Given the description of an element on the screen output the (x, y) to click on. 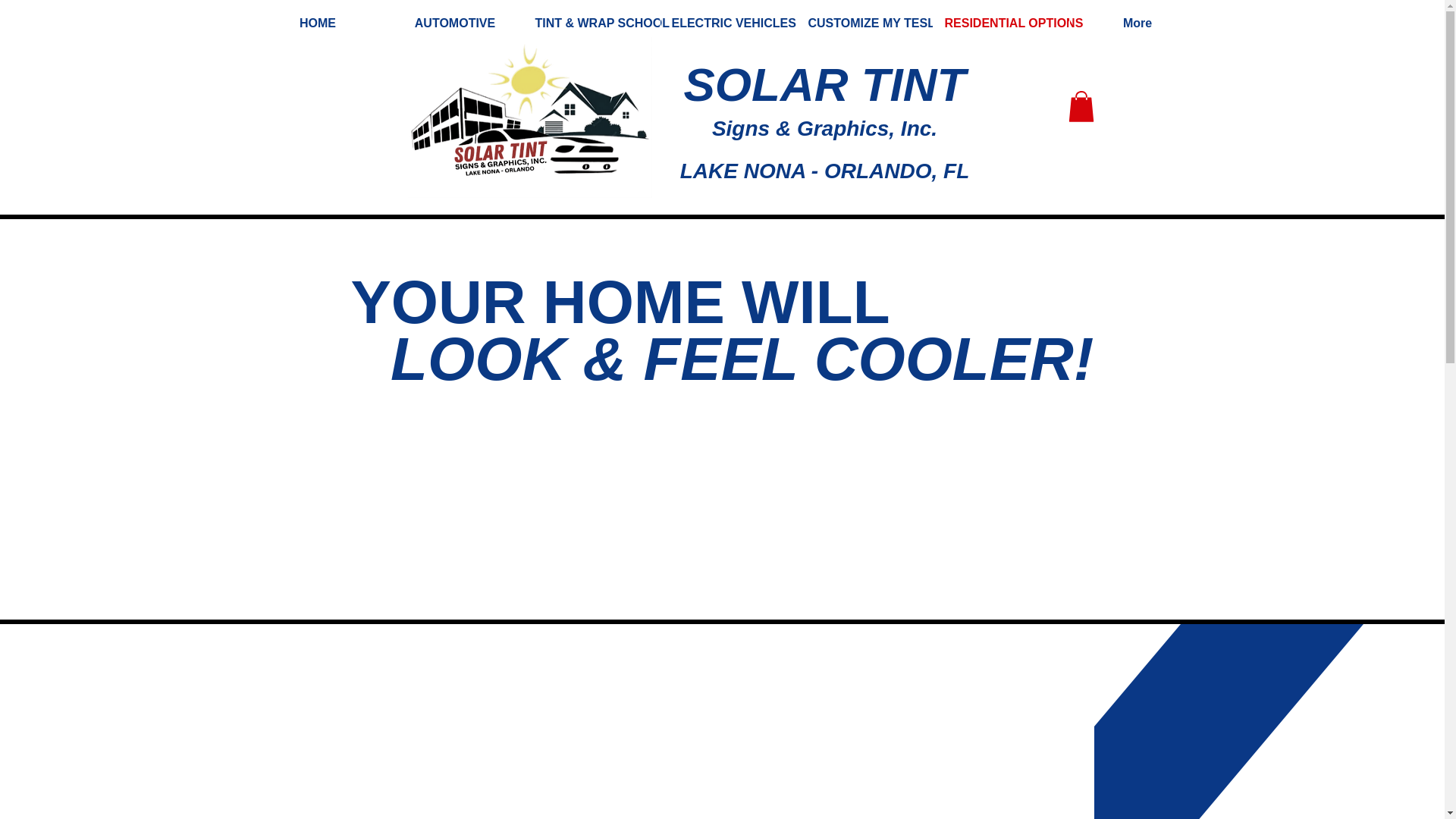
HOME (316, 23)
AUTOMOTIVE (454, 23)
SOLAR TI (793, 84)
RESIDENTIAL OPTIONS (1000, 23)
NT (934, 84)
CUSTOMIZE MY TESLA (864, 23)
ELECTRIC VEHICLES (727, 23)
LAKE NONA - ORLANDO, FL (824, 170)
s, Inc. (907, 128)
